Given the description of an element on the screen output the (x, y) to click on. 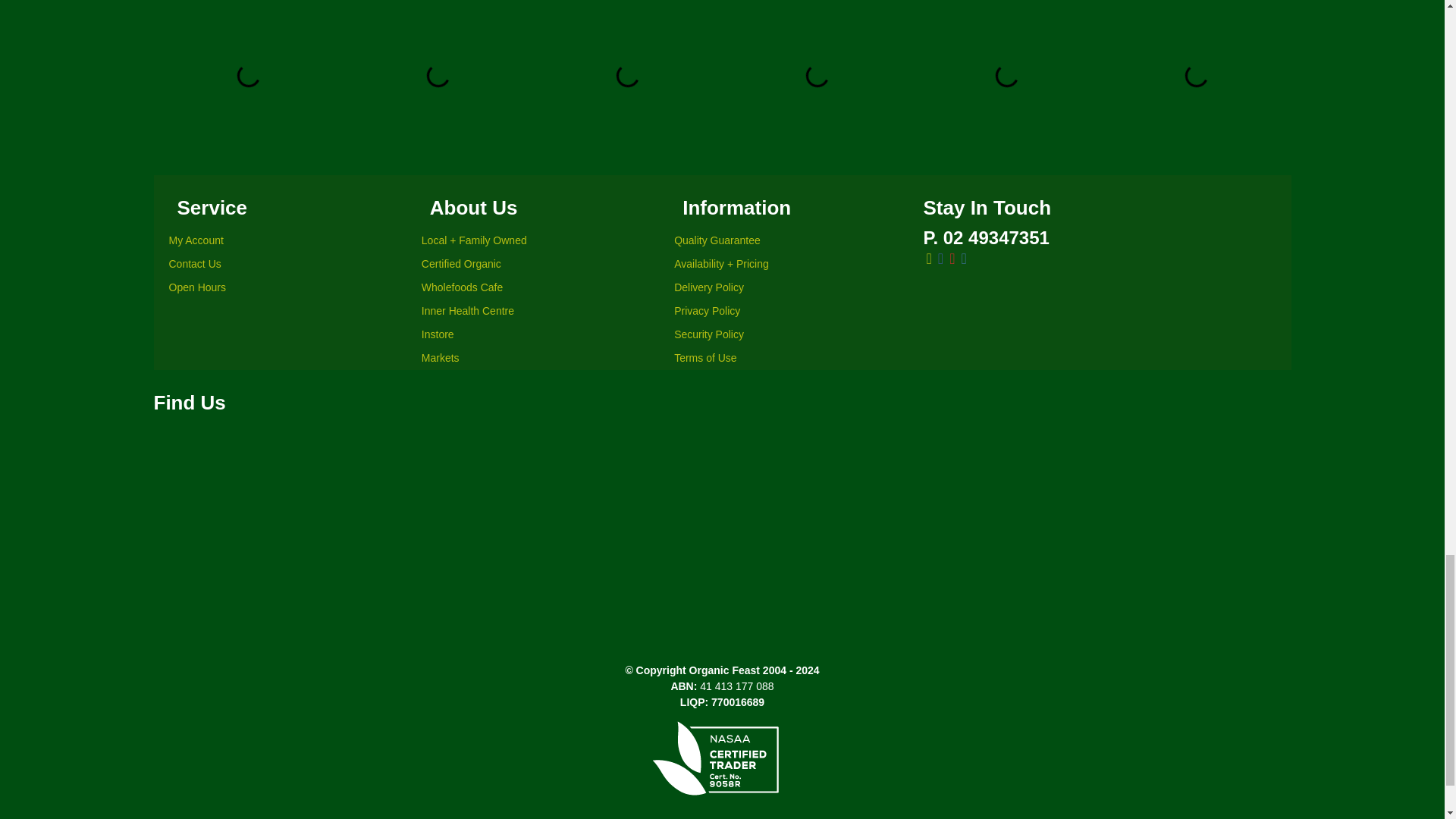
Organic Feast on Facebook (940, 258)
Organic Feast on Instagram (963, 258)
Email us (928, 258)
Organic Feast on Youtube (952, 258)
